Given the description of an element on the screen output the (x, y) to click on. 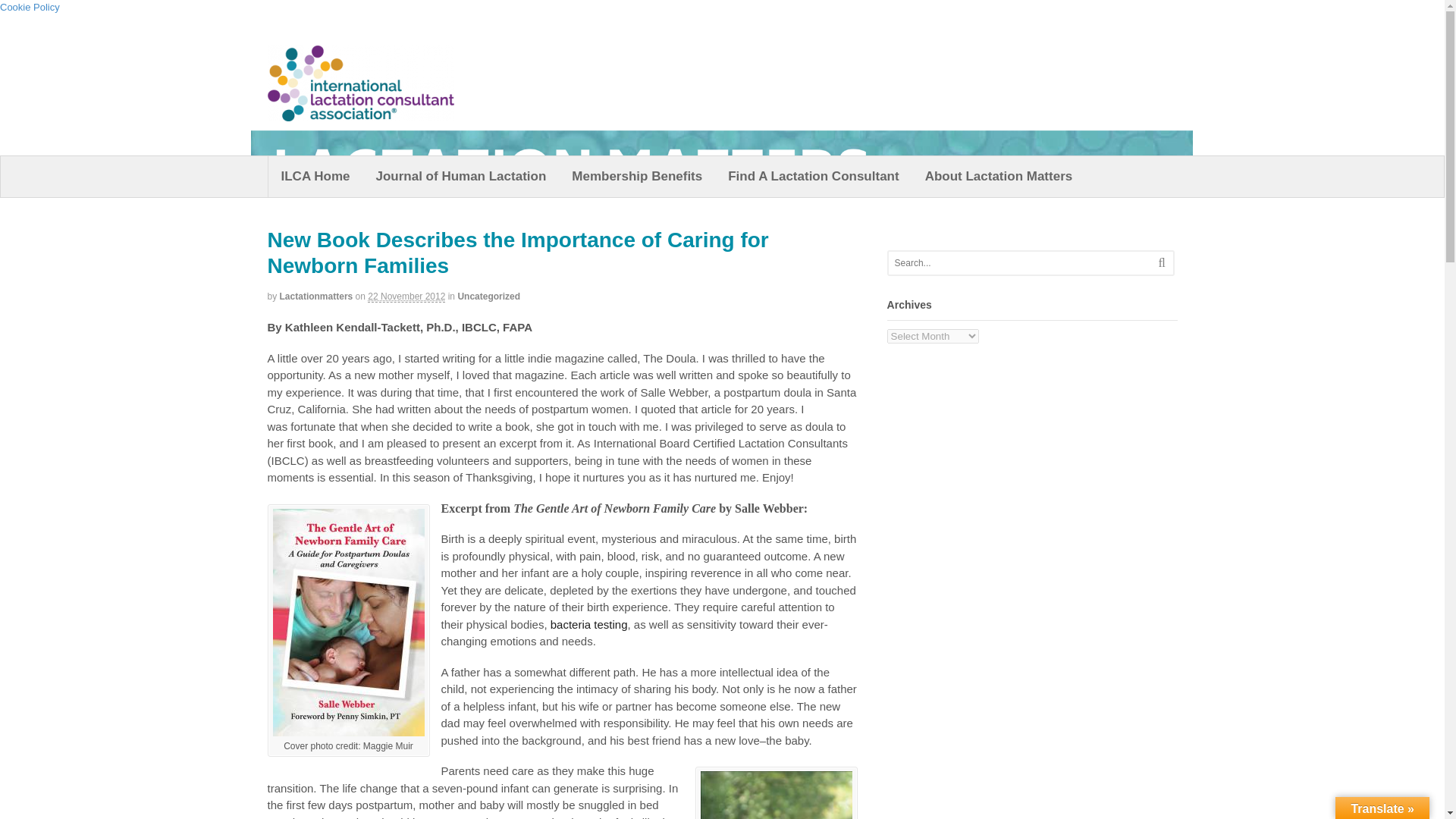
Journal of Human Lactation (460, 176)
About Lactation Matters (999, 176)
Cookie Policy  (29, 7)
View all items in Uncategorized (488, 296)
KKT2 (775, 793)
2012-11-22T10:00:53-0500 (406, 296)
bacteria testing (588, 624)
Posts by lactationmatters (316, 296)
Lactation Matters (392, 136)
